Given the description of an element on the screen output the (x, y) to click on. 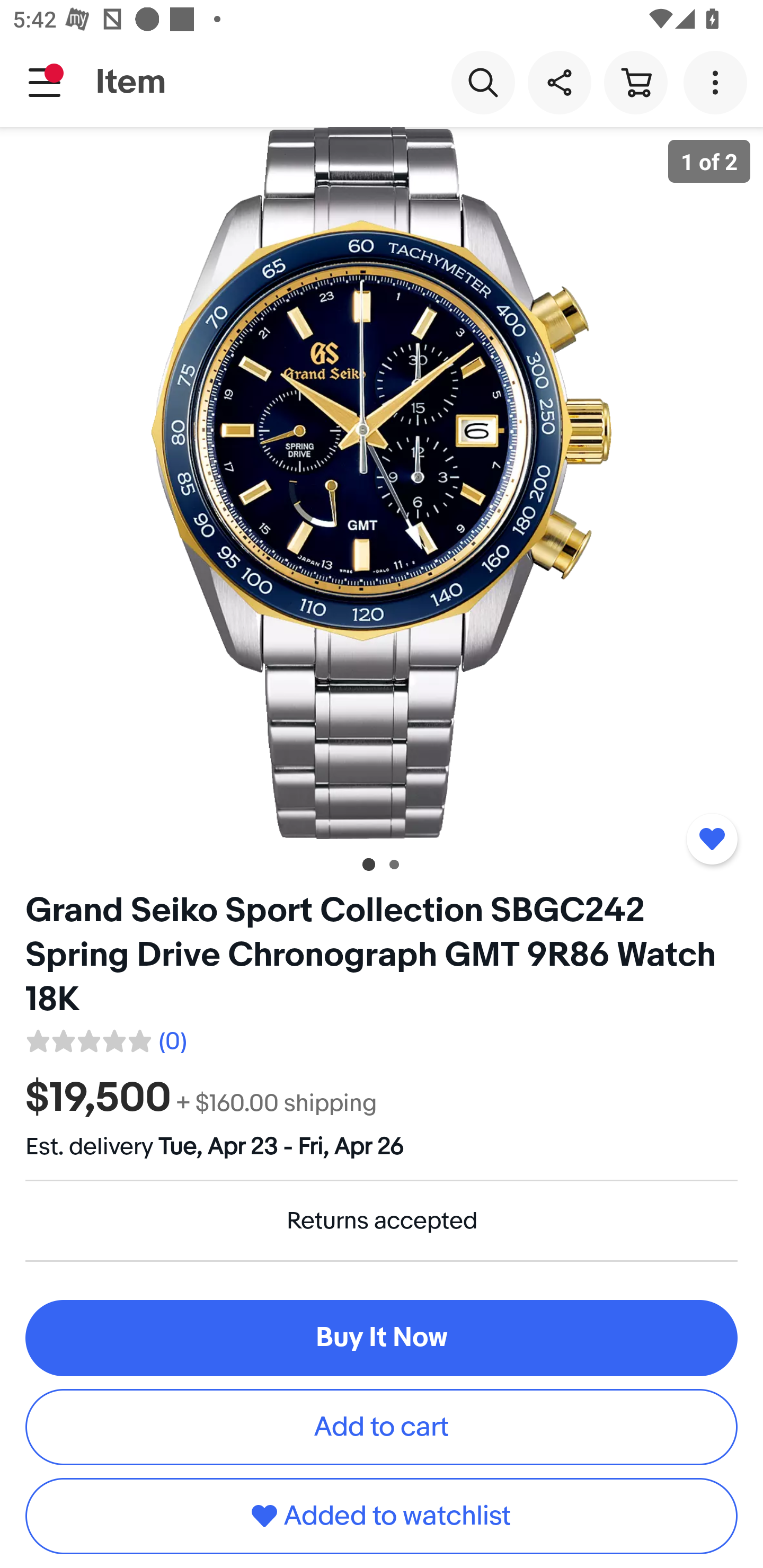
Main navigation, notification is pending, open (44, 82)
Search (482, 81)
Share this item (559, 81)
Cart button shopping cart (635, 81)
More options (718, 81)
Item image 1 of 2 (381, 482)
Added to watchlist (711, 838)
0 reviews. Average rating 0.0 out of five 0.0 (0) (105, 1037)
Buy It Now (381, 1337)
Add to cart (381, 1426)
Added to watchlist (381, 1515)
